Given the description of an element on the screen output the (x, y) to click on. 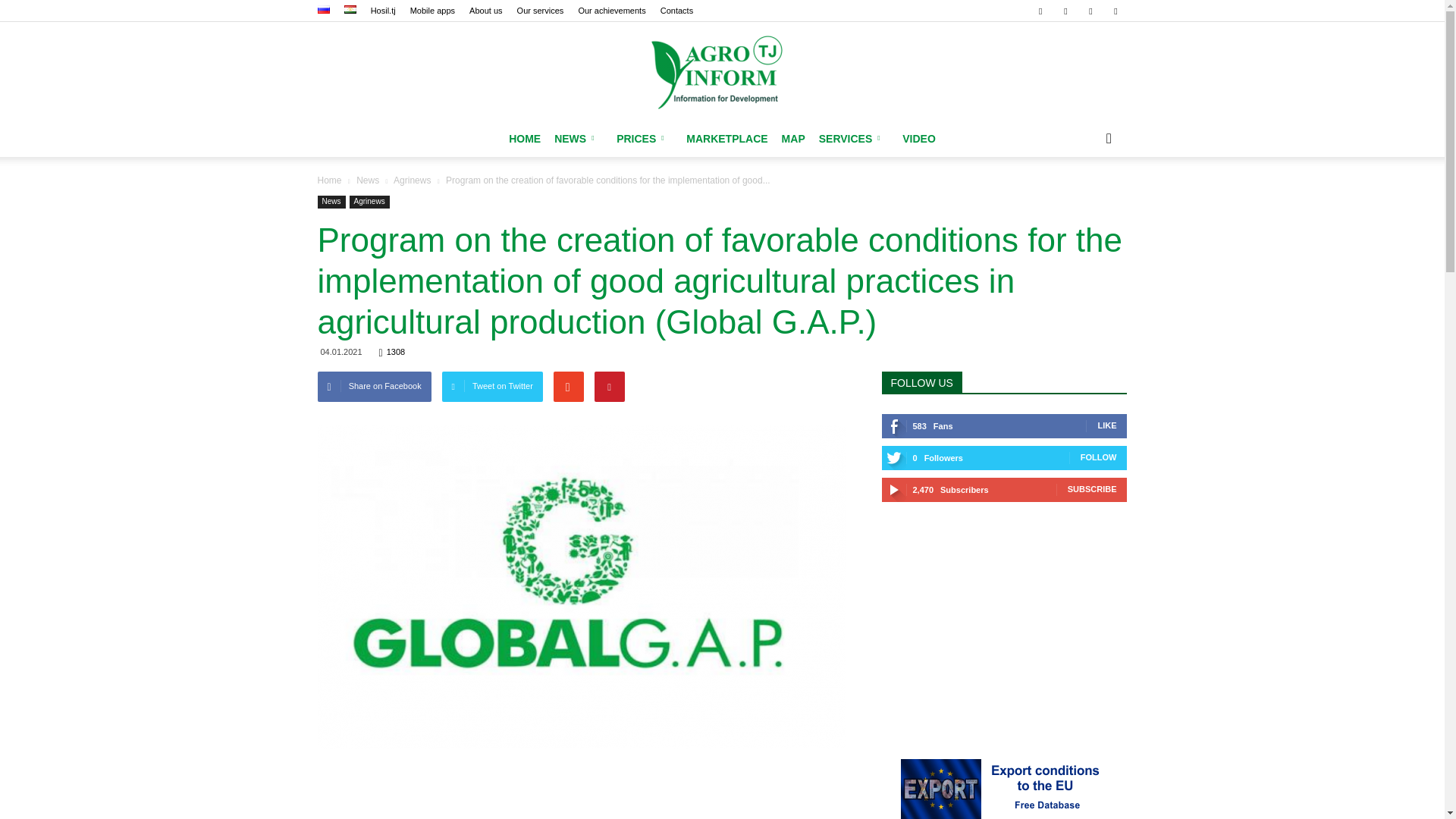
Youtube (1114, 10)
About us (485, 10)
Hosil.tj (383, 10)
Linkedin (1065, 10)
Contacts (677, 10)
Mobile apps (432, 10)
Facebook (1040, 10)
Our achievements (611, 10)
Our services (540, 10)
Twitter (1090, 10)
